Given the description of an element on the screen output the (x, y) to click on. 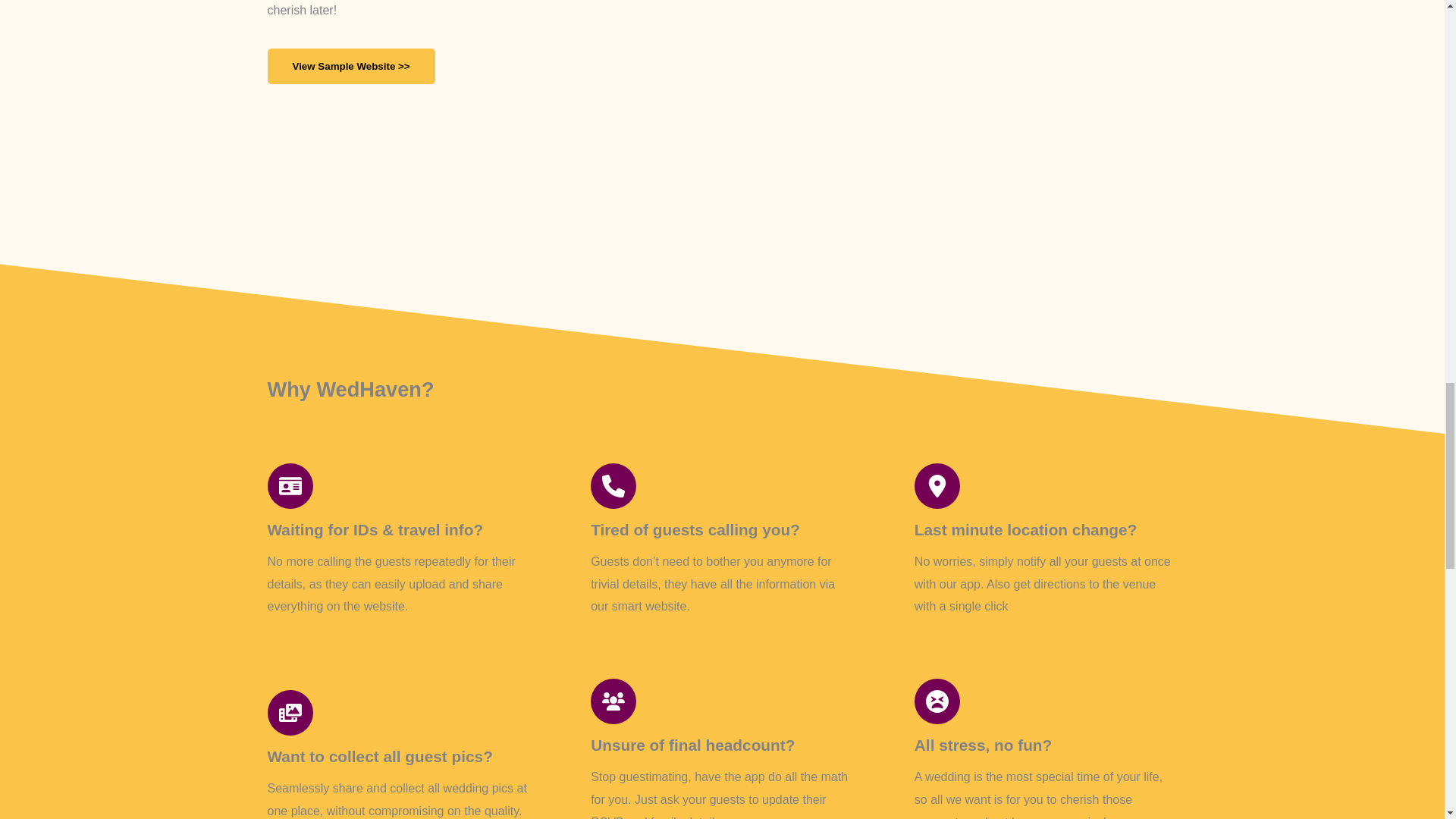
4 (949, 127)
